Given the description of an element on the screen output the (x, y) to click on. 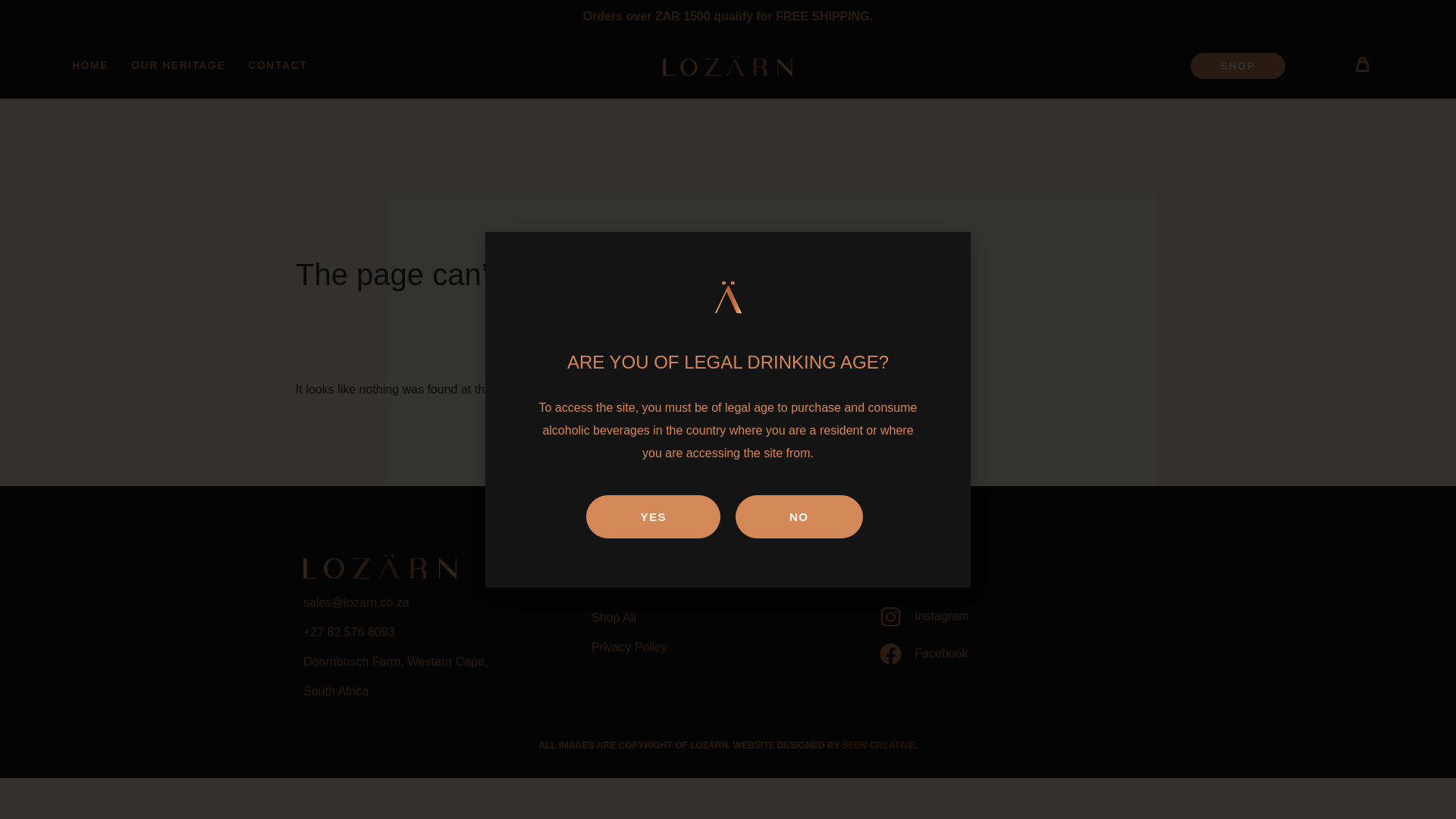
NO (799, 515)
Facebook (1016, 653)
Doornbosch Farm, Western Cape, (439, 661)
South Africa (439, 691)
Instagram (1016, 617)
HOME (90, 65)
Shop All (727, 618)
SEEN CREATIVE (879, 745)
CONTACT (276, 65)
OUR HERITAGE (177, 65)
